Given the description of an element on the screen output the (x, y) to click on. 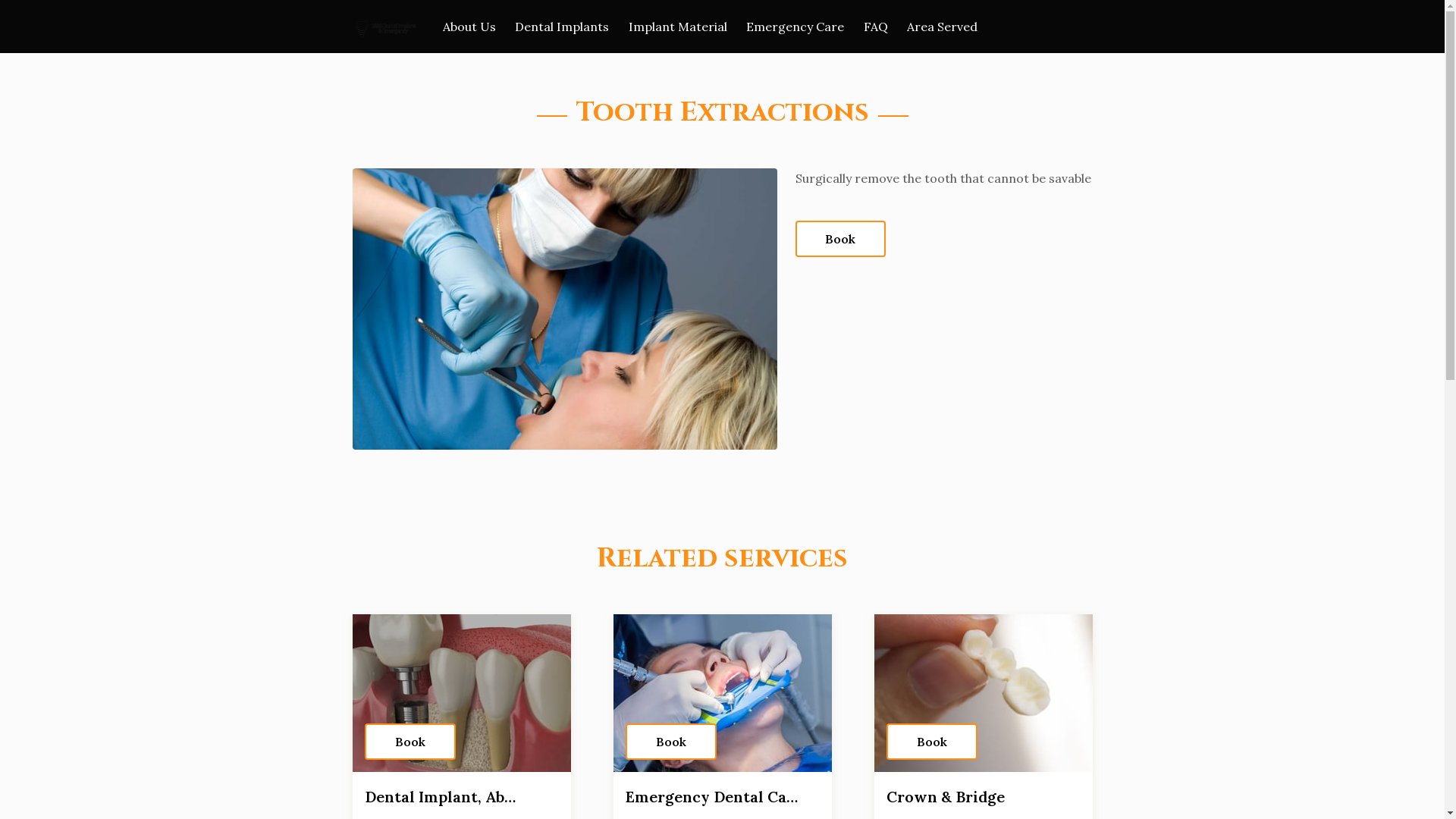
Book Element type: text (982, 692)
Book Element type: text (409, 741)
Implant Material Element type: text (677, 26)
Book Element type: text (460, 692)
Book Element type: text (839, 238)
Book Element type: text (669, 741)
Book Element type: text (721, 692)
Book Element type: text (930, 741)
Emergency Care Element type: text (795, 26)
FAQ Element type: text (875, 26)
Dental Implants Element type: text (561, 26)
Area Served Element type: text (941, 26)
About Us Element type: text (468, 26)
